Given the description of an element on the screen output the (x, y) to click on. 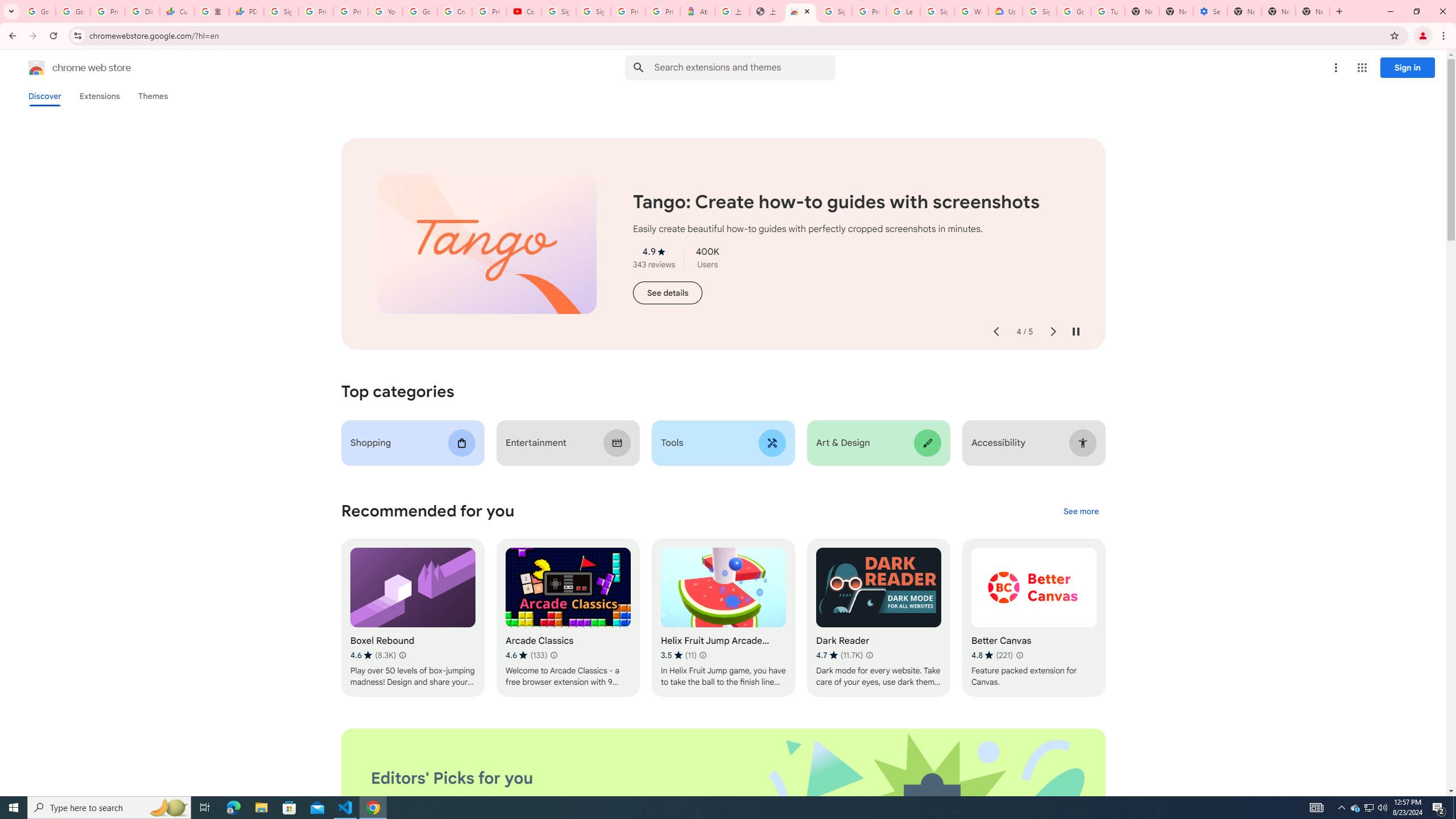
Chrome Web Store (800, 11)
Google Workspace Admin Community (38, 11)
More options menu (1335, 67)
Average rating 4.6 out of 5 stars. 133 ratings. (526, 655)
